Given the description of an element on the screen output the (x, y) to click on. 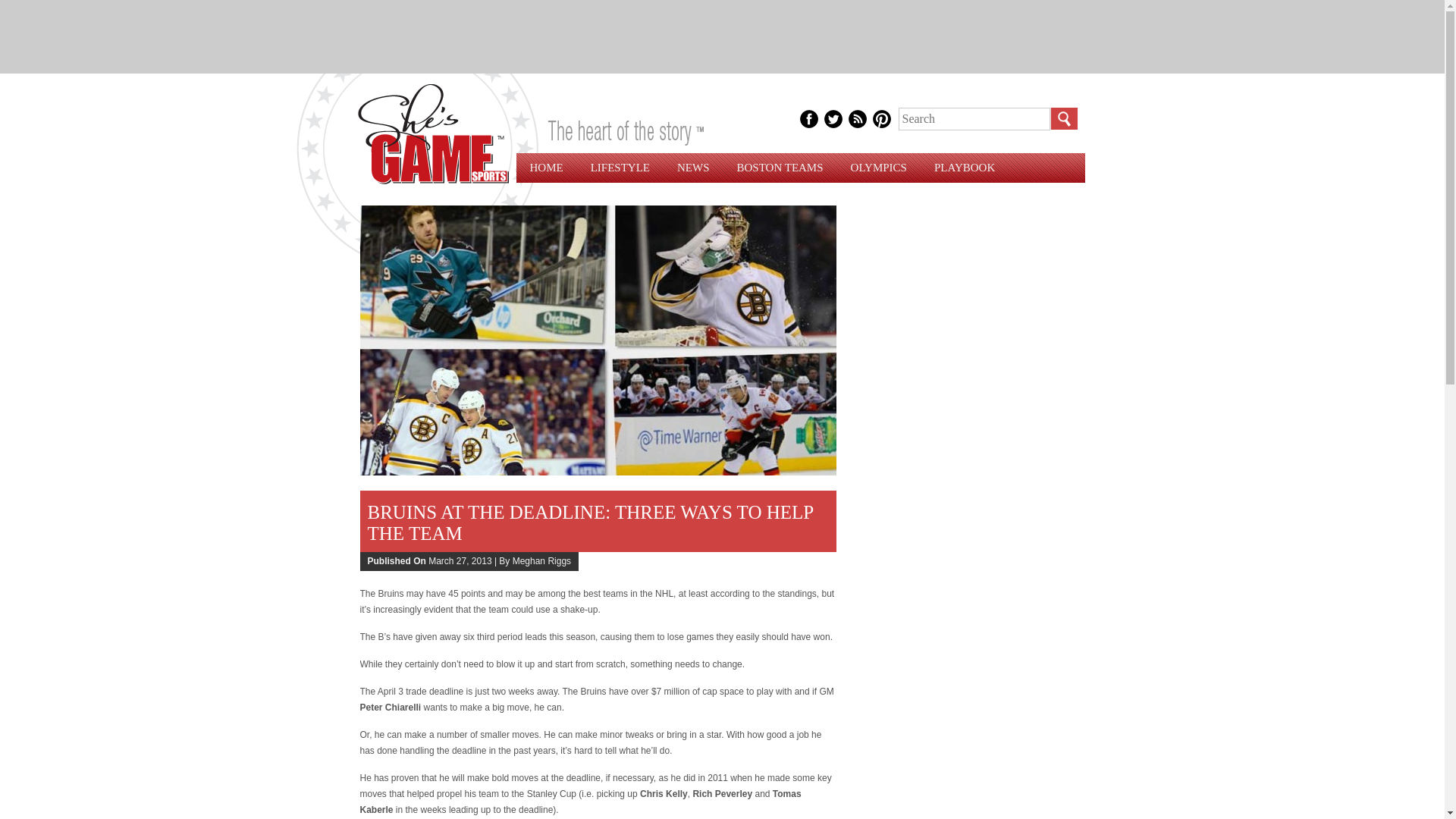
SEARCH (1063, 118)
HOME (545, 167)
PLAYBOOK (964, 167)
OLYMPICS (878, 167)
BOSTON TEAMS (780, 167)
LIFESTYLE (619, 167)
NEWS (693, 167)
Advertisement (721, 33)
